Given the description of an element on the screen output the (x, y) to click on. 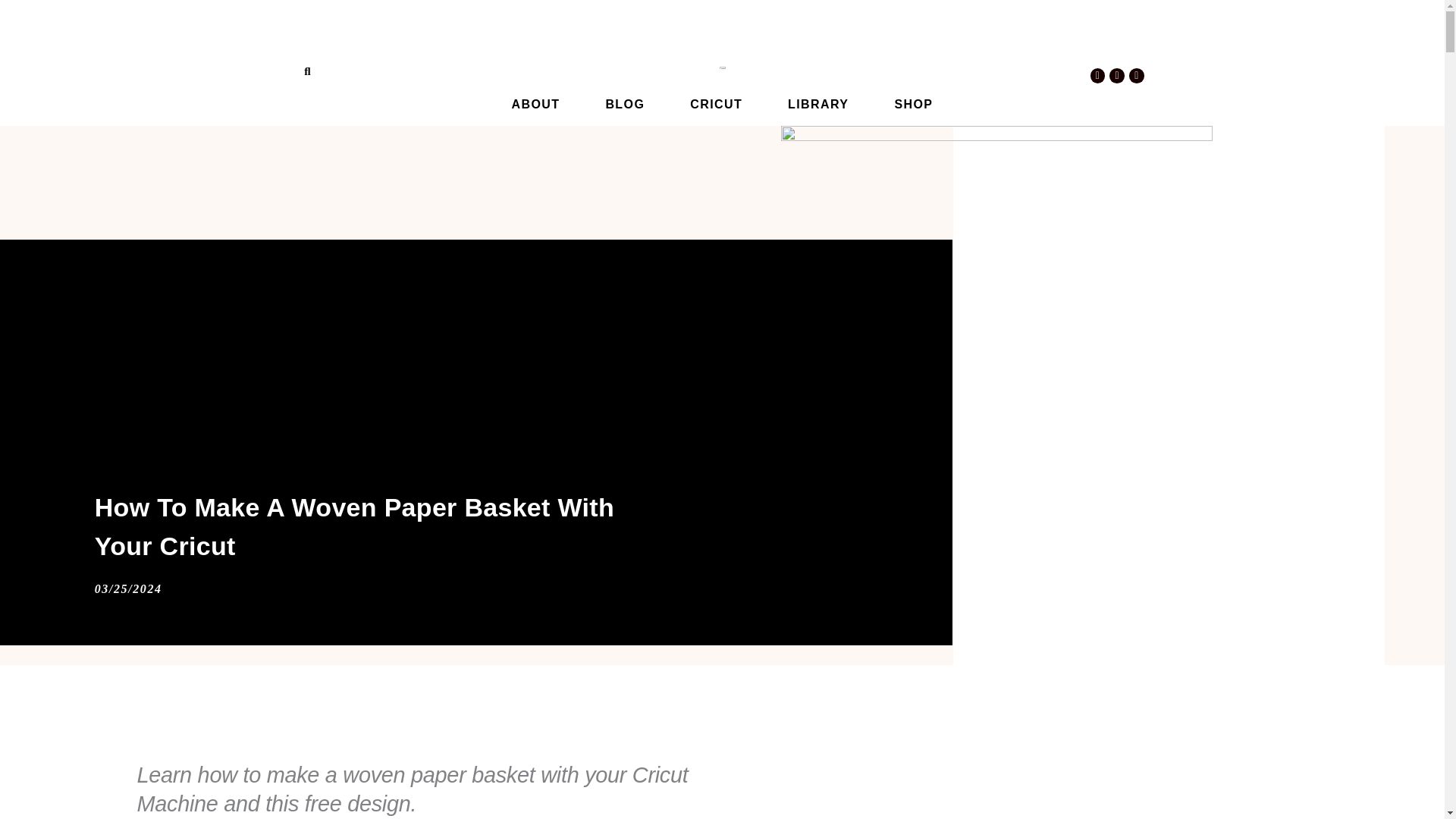
BLOG (624, 103)
ABOUT (535, 103)
CRICUT (716, 103)
LIBRARY (818, 103)
SHOP (913, 103)
